Given the description of an element on the screen output the (x, y) to click on. 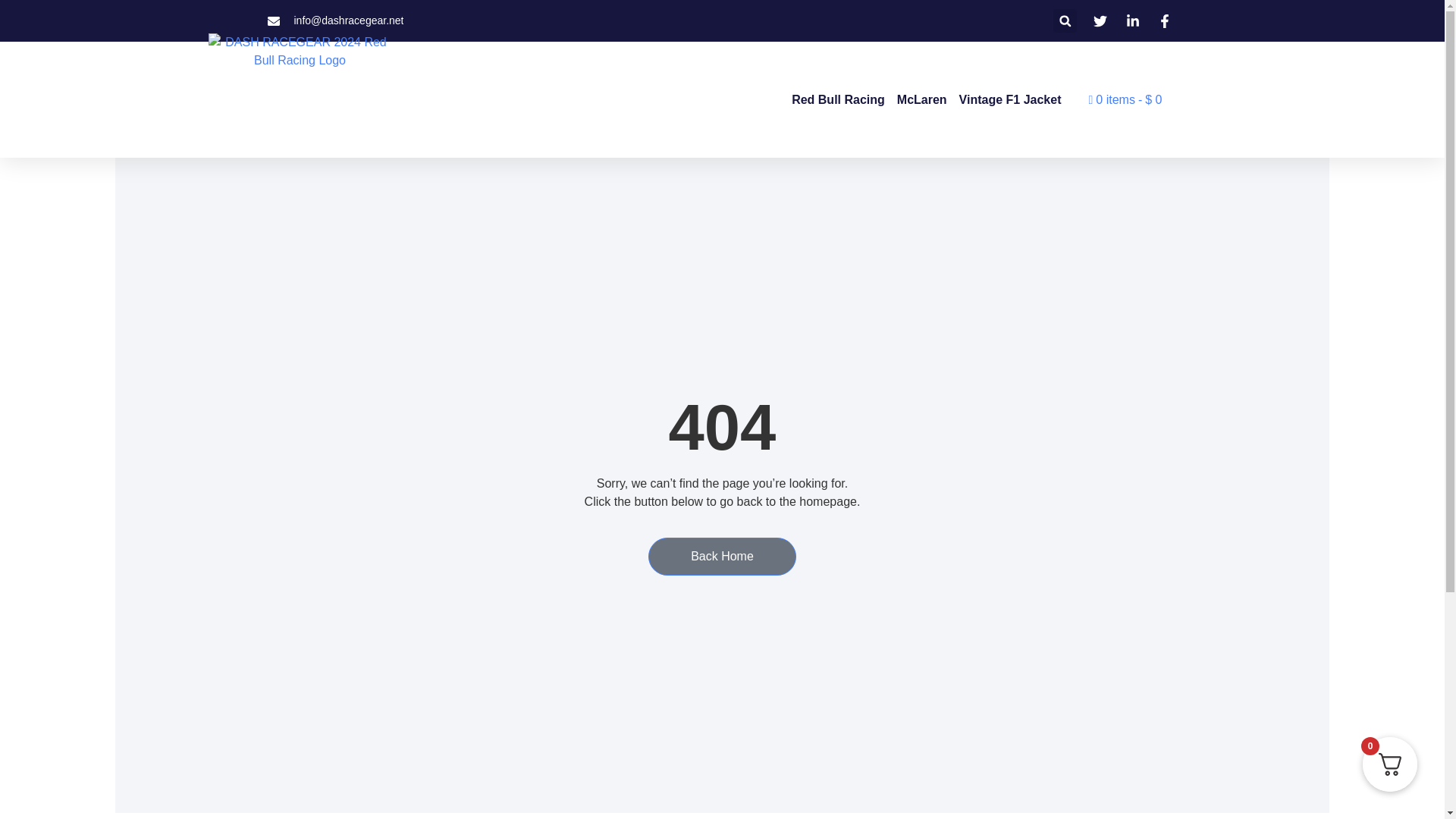
McLaren (921, 99)
Back Home (721, 556)
Start shopping (1125, 99)
Red Bull Racing (838, 99)
Vintage F1 Jacket (1010, 99)
